Given the description of an element on the screen output the (x, y) to click on. 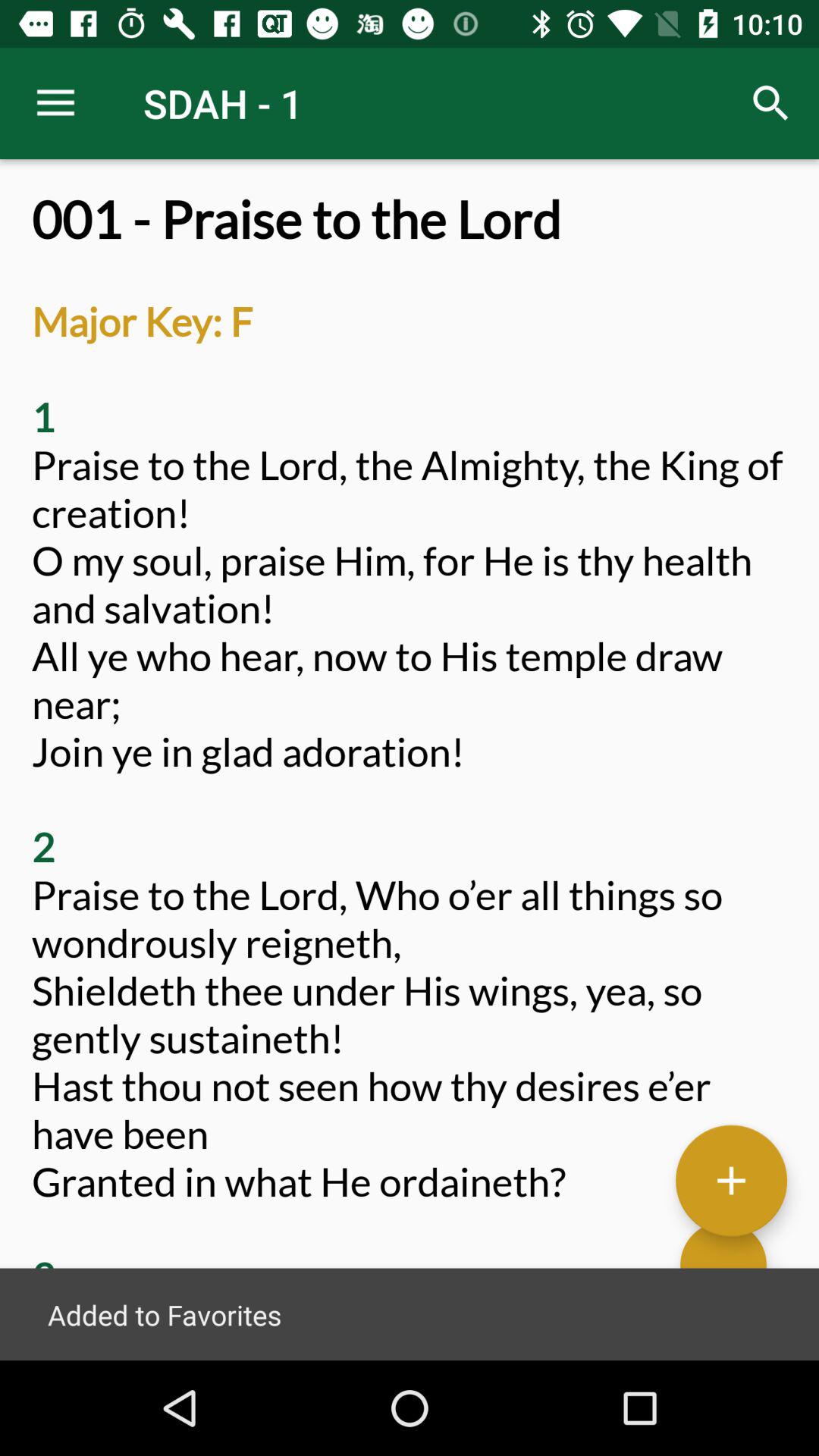
open the icon to the right of sdah - 1 (771, 103)
